Given the description of an element on the screen output the (x, y) to click on. 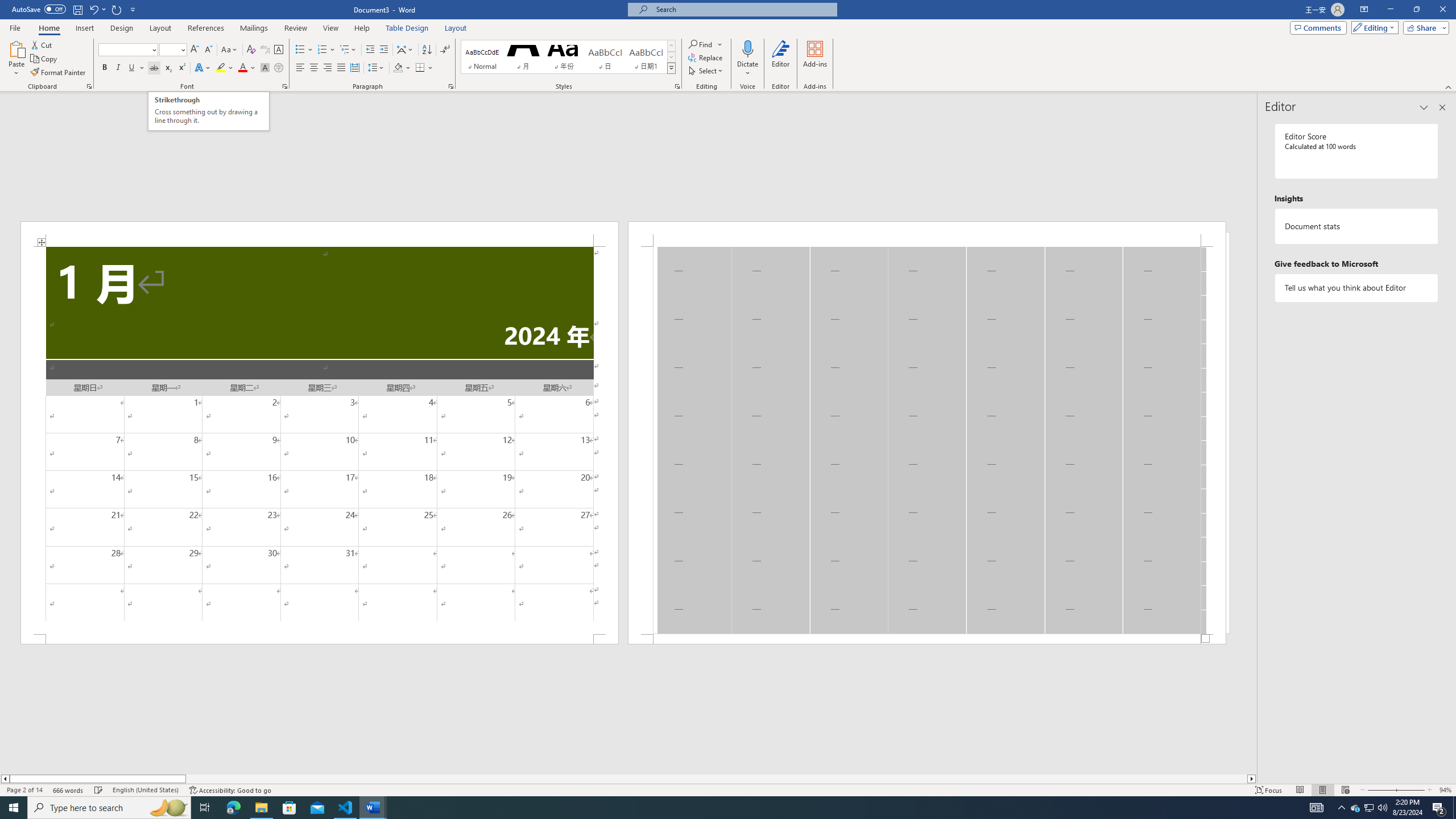
Page 1 content (319, 439)
